Given the description of an element on the screen output the (x, y) to click on. 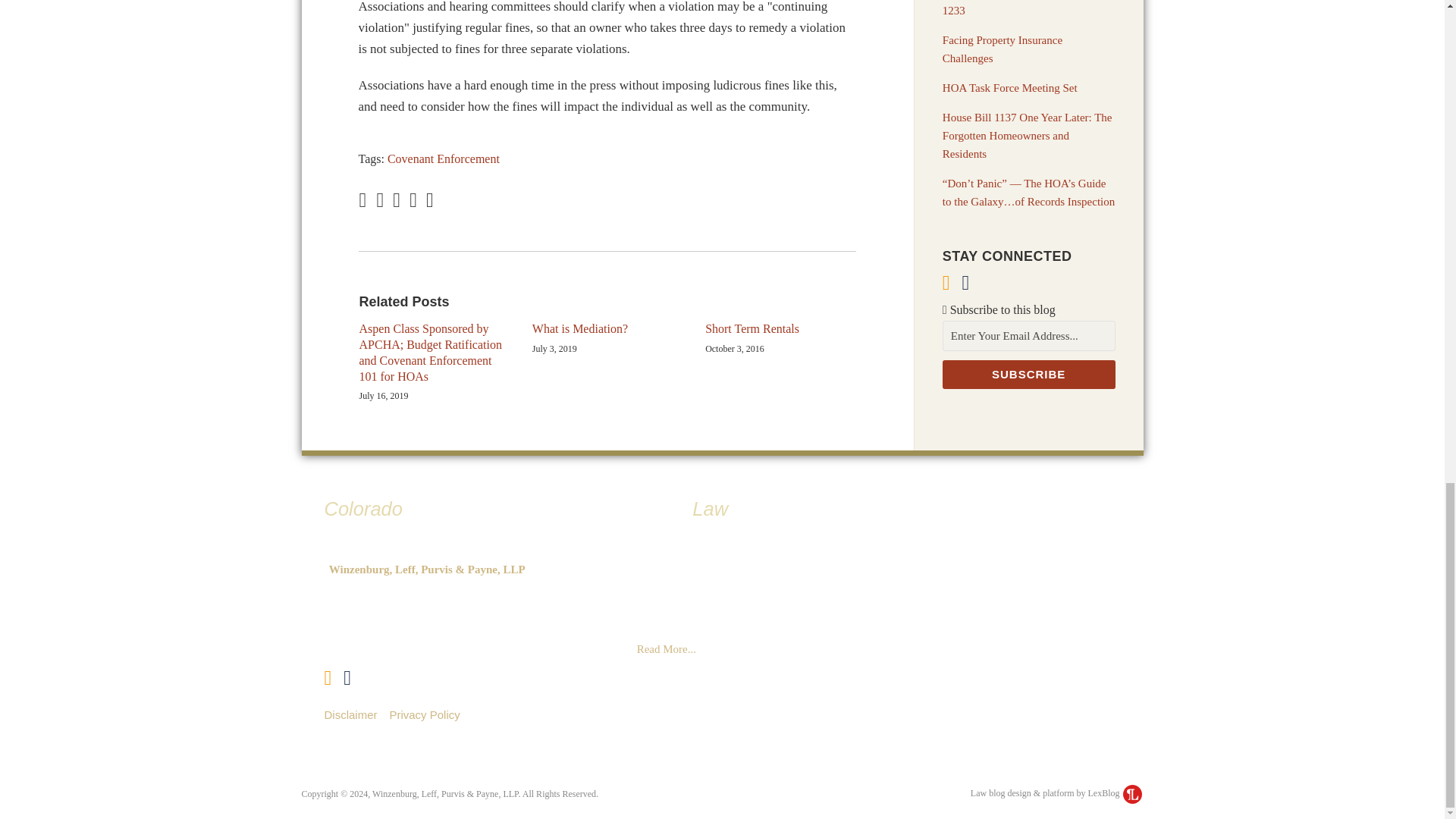
Facing Property Insurance Challenges (1002, 49)
Subscribe (1028, 374)
What is Mediation? (579, 329)
LexBlog Logo (1131, 793)
HOA Task Force Meeting Set (1009, 87)
Covenant Enforcement (443, 158)
Short Term Rentals (751, 329)
New Classes: House Bills 1337 and 1233 (1023, 8)
